Given the description of an element on the screen output the (x, y) to click on. 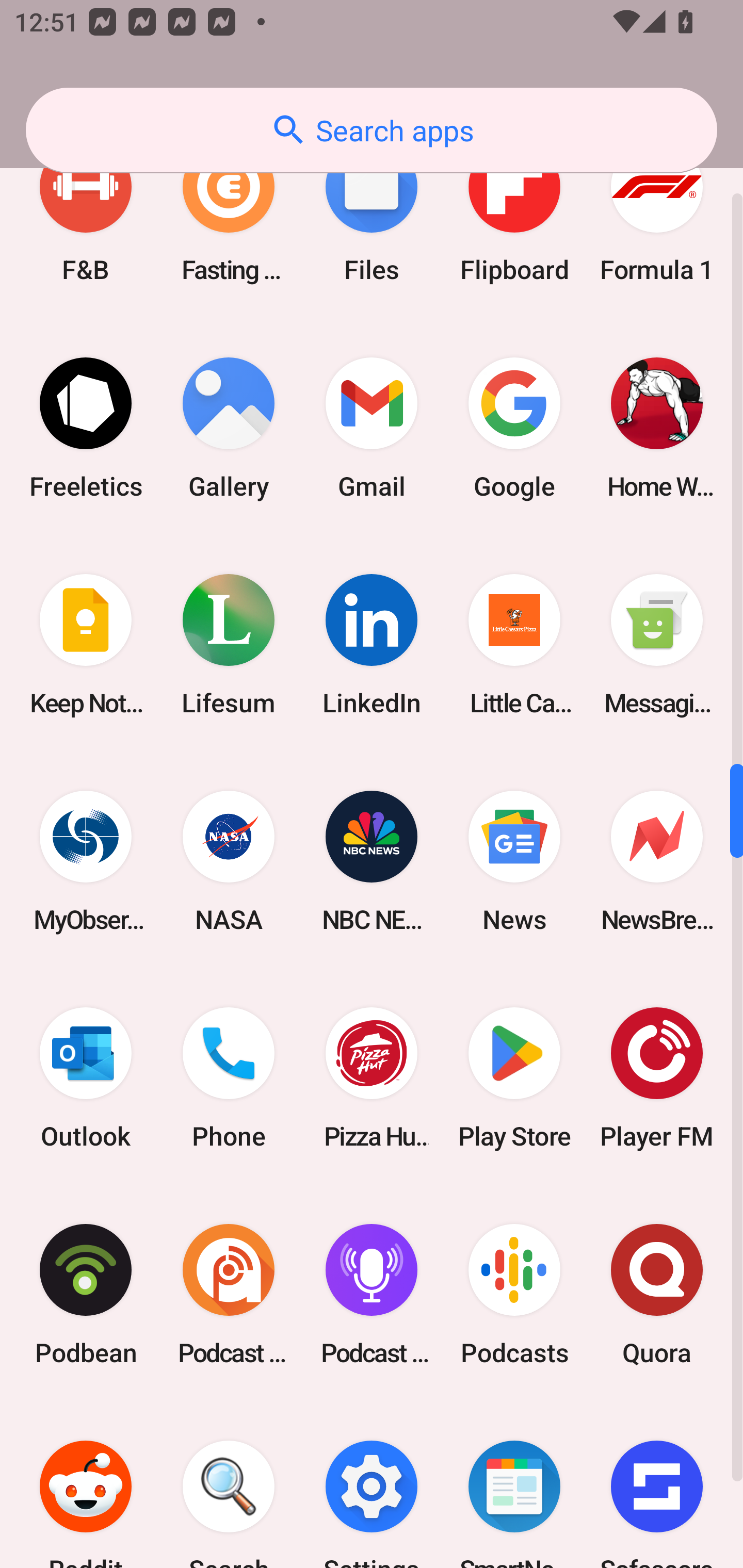
  Search apps (371, 130)
F&B (85, 211)
Fasting Coach (228, 211)
Files (371, 211)
Flipboard (514, 211)
Formula 1 (656, 211)
Freeletics (85, 427)
Gallery (228, 427)
Gmail (371, 427)
Google (514, 427)
Home Workout (656, 427)
Keep Notes (85, 644)
Lifesum (228, 644)
LinkedIn (371, 644)
Little Caesars Pizza (514, 644)
Messaging (656, 644)
MyObservatory (85, 860)
NASA (228, 860)
NBC NEWS (371, 860)
News (514, 860)
NewsBreak (656, 860)
Outlook (85, 1077)
Phone (228, 1077)
Pizza Hut HK & Macau (371, 1077)
Play Store (514, 1077)
Player FM (656, 1077)
Podbean (85, 1294)
Podcast Addict (228, 1294)
Podcast Player (371, 1294)
Podcasts (514, 1294)
Quora (656, 1294)
Reddit (85, 1485)
Search (228, 1485)
Settings (371, 1485)
SmartNews (514, 1485)
Sofascore (656, 1485)
